Given the description of an element on the screen output the (x, y) to click on. 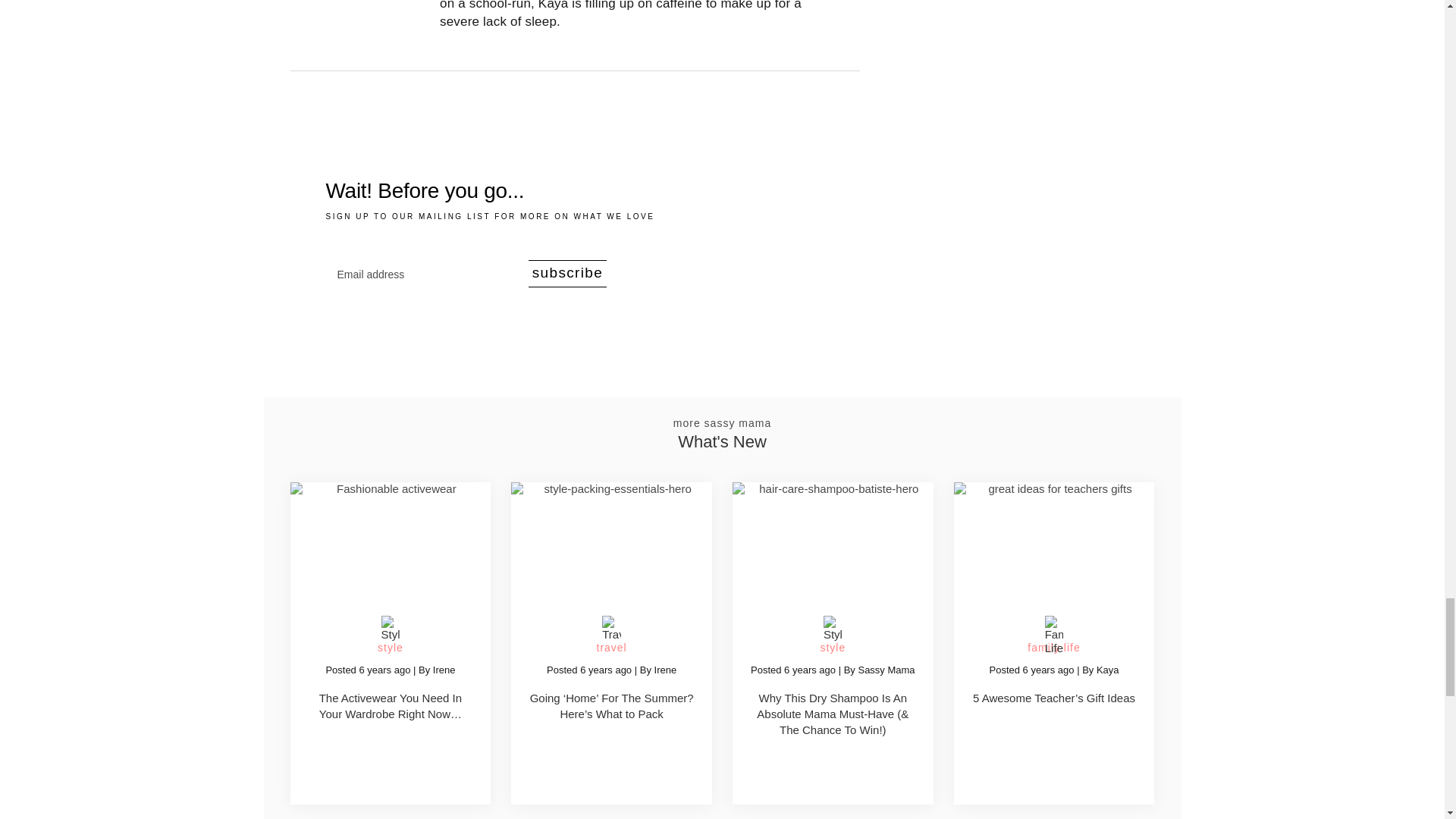
Subscribe (567, 273)
